Given the description of an element on the screen output the (x, y) to click on. 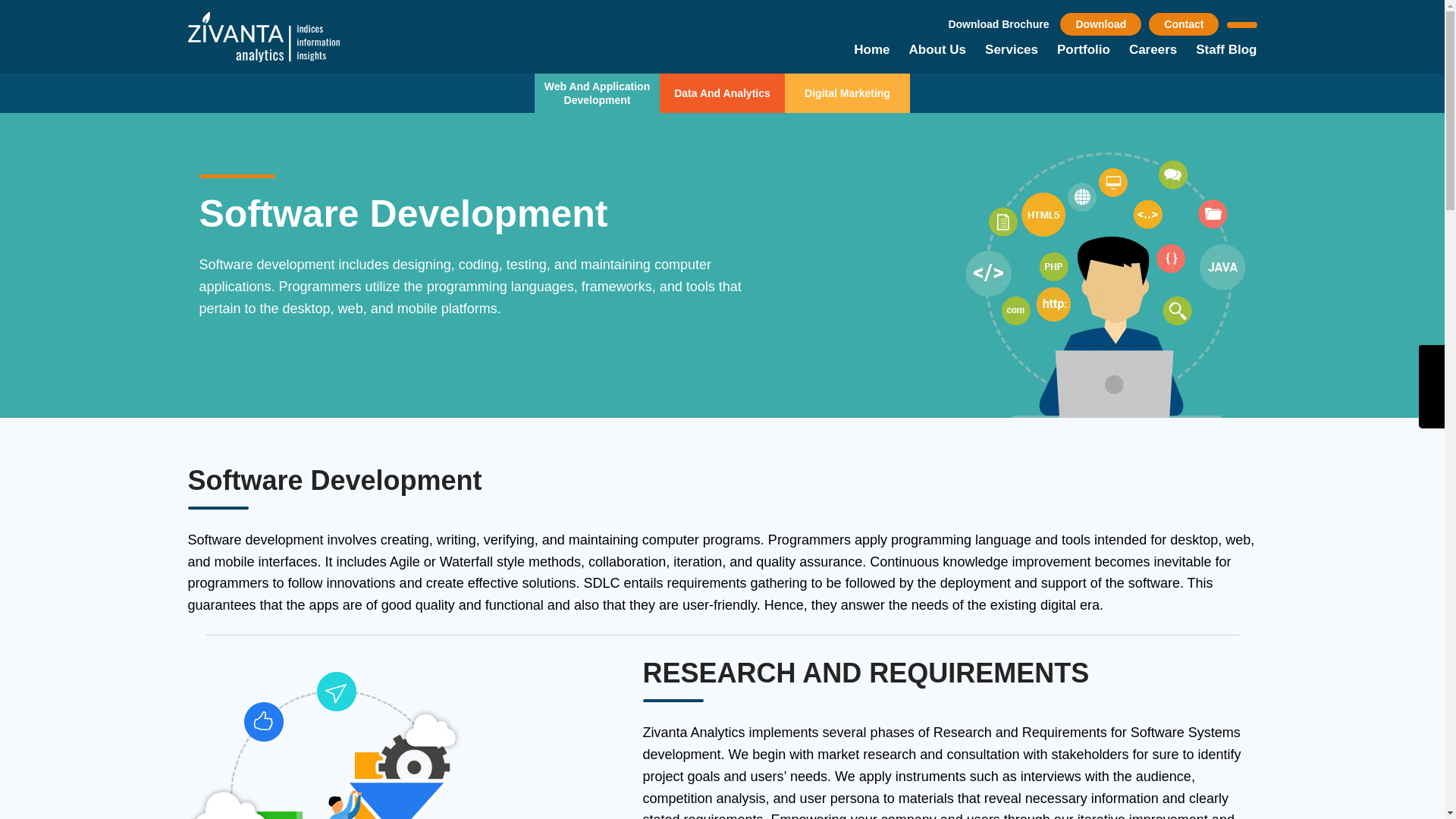
Services (1011, 49)
Contact (1183, 24)
Download (1100, 24)
Data And Analytics (721, 93)
Portfolio (1083, 49)
Staff Blog (1225, 49)
Careers (1152, 49)
About Us (937, 49)
Home (871, 49)
Web And Application Development (596, 93)
Digital Marketing (847, 93)
